Given the description of an element on the screen output the (x, y) to click on. 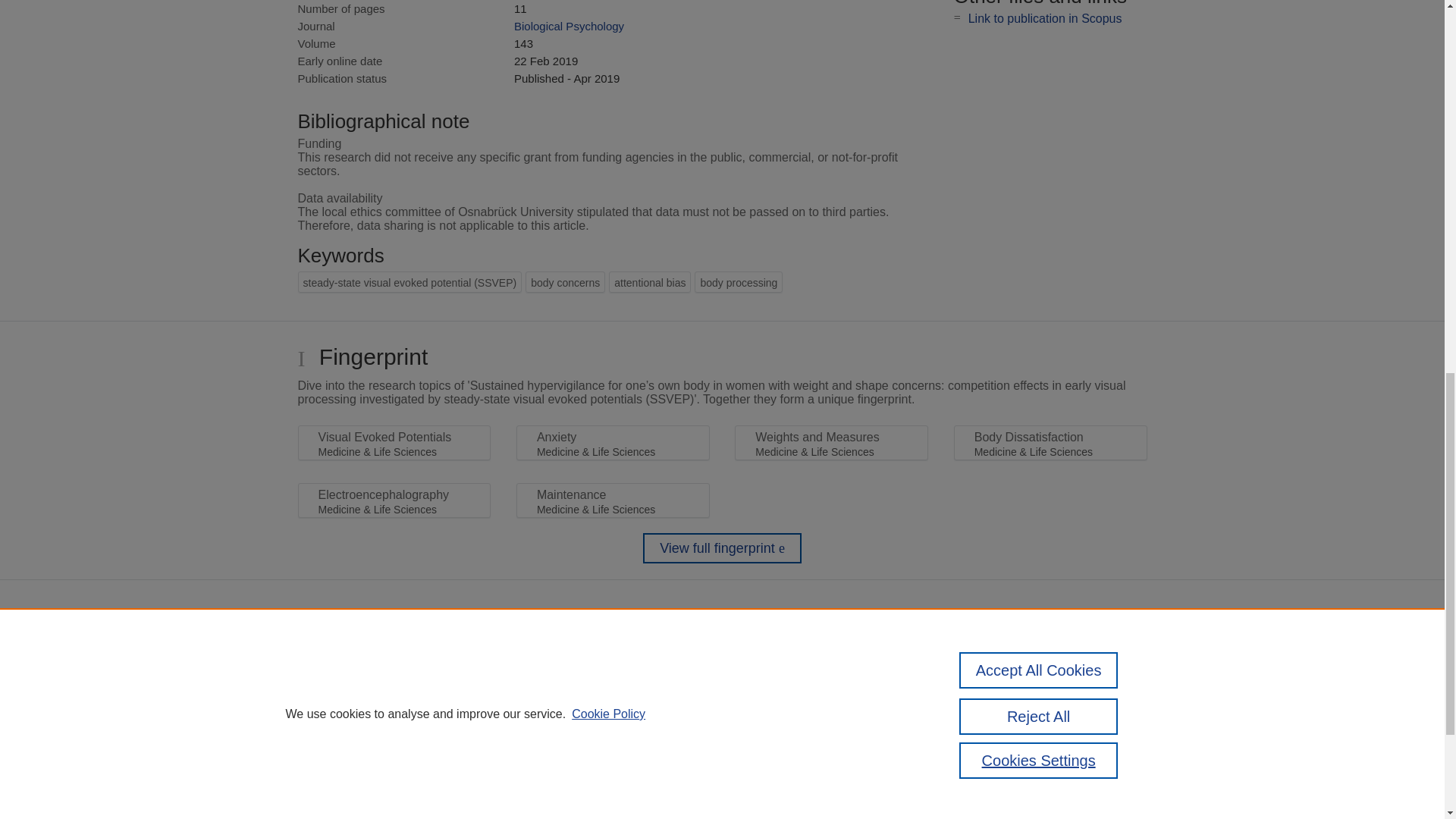
Link to publication in Scopus (1045, 18)
View full fingerprint (722, 548)
Biological Psychology (568, 25)
